Given the description of an element on the screen output the (x, y) to click on. 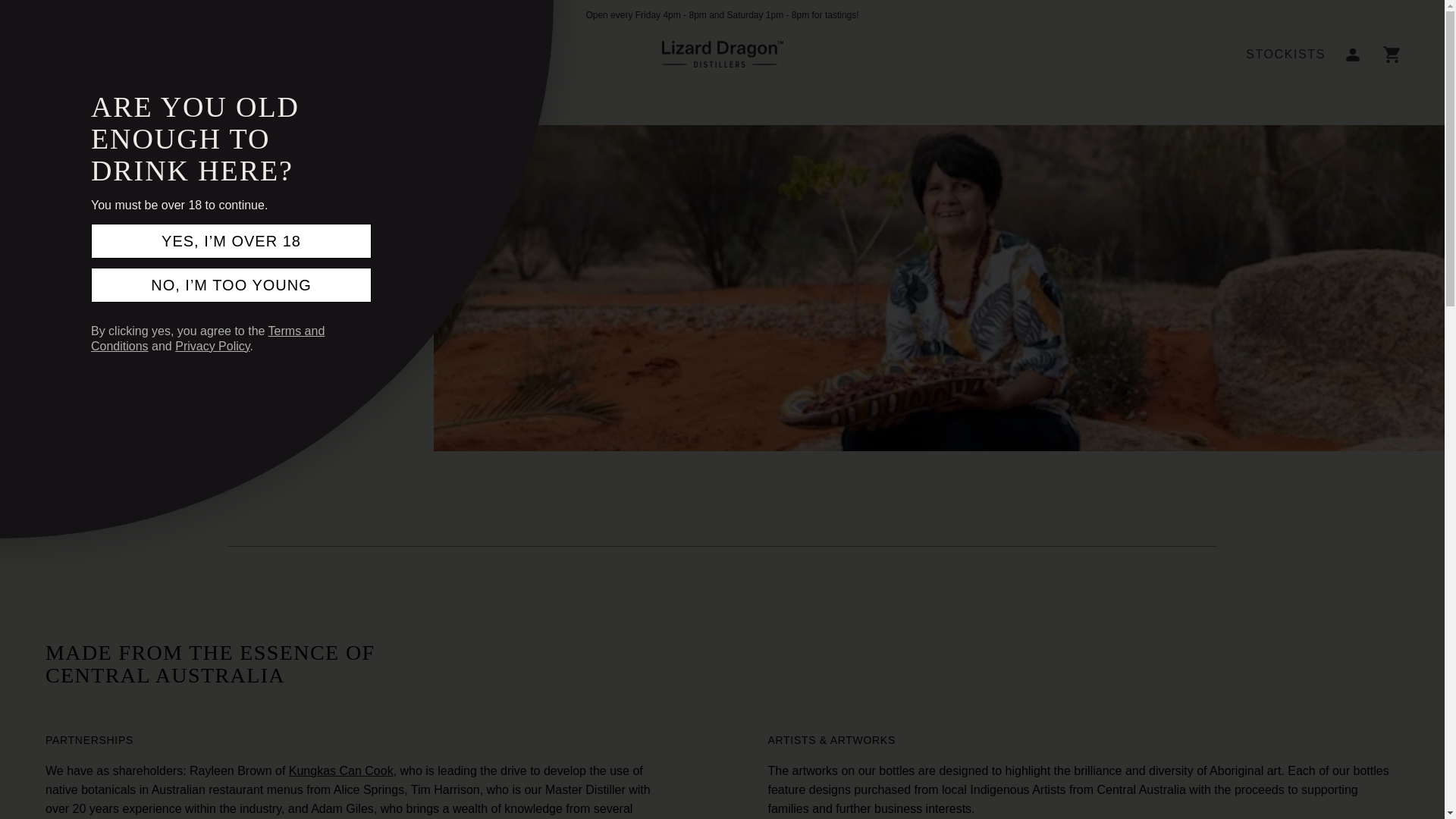
SHOP (128, 54)
OPEN CART (1391, 54)
Kungkas Can Cook (340, 770)
BOOKING (397, 54)
HOME (65, 54)
Privacy Policy (211, 345)
EXPERIENCES (291, 54)
Terms of Service (207, 338)
ABOUT (195, 54)
STOCKISTS (1285, 54)
MY ACCOUNT (1352, 54)
